Given the description of an element on the screen output the (x, y) to click on. 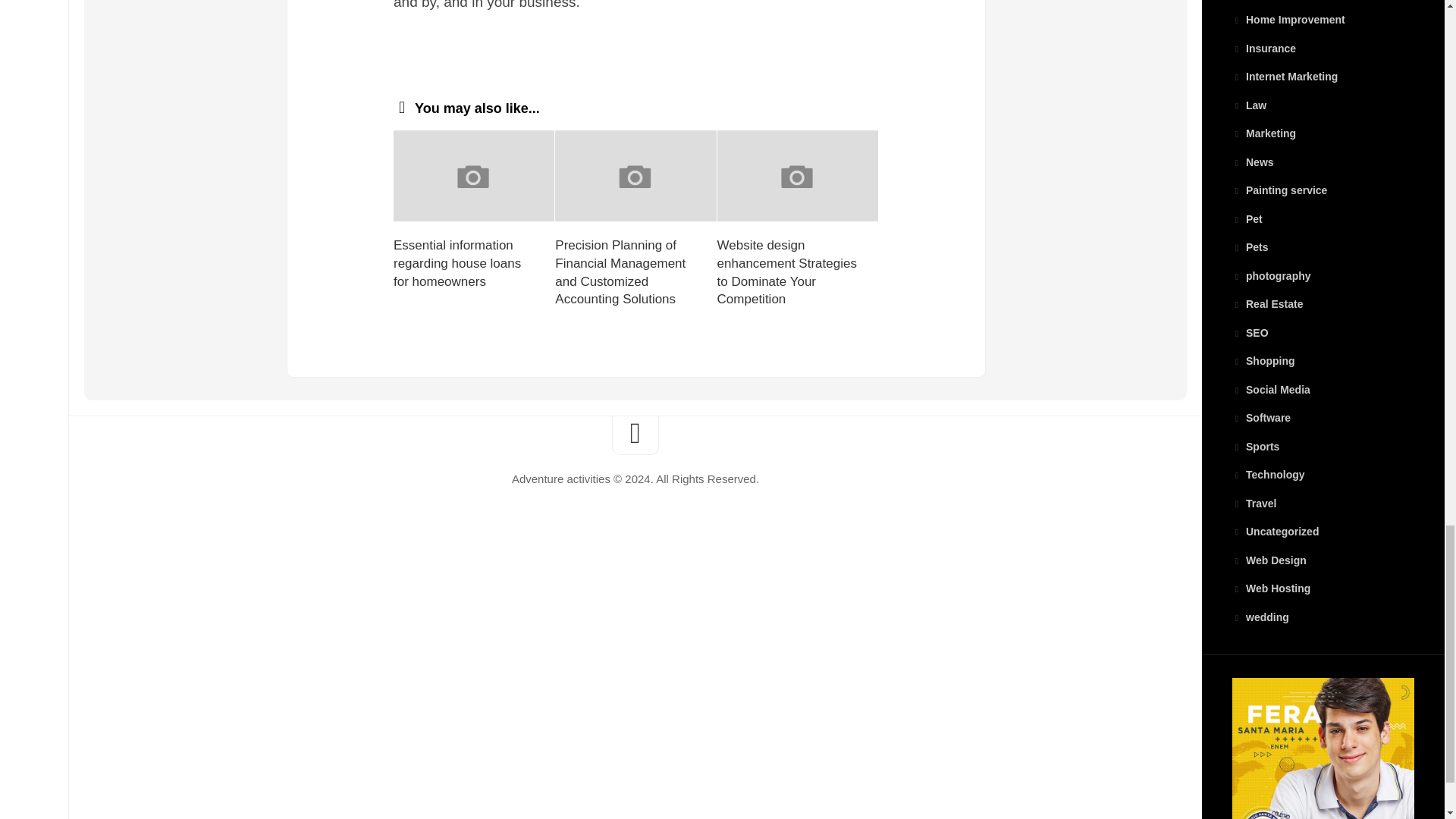
Law (1248, 105)
Internet Marketing (1284, 76)
Home Improvement (1288, 19)
Insurance (1263, 48)
